Given the description of an element on the screen output the (x, y) to click on. 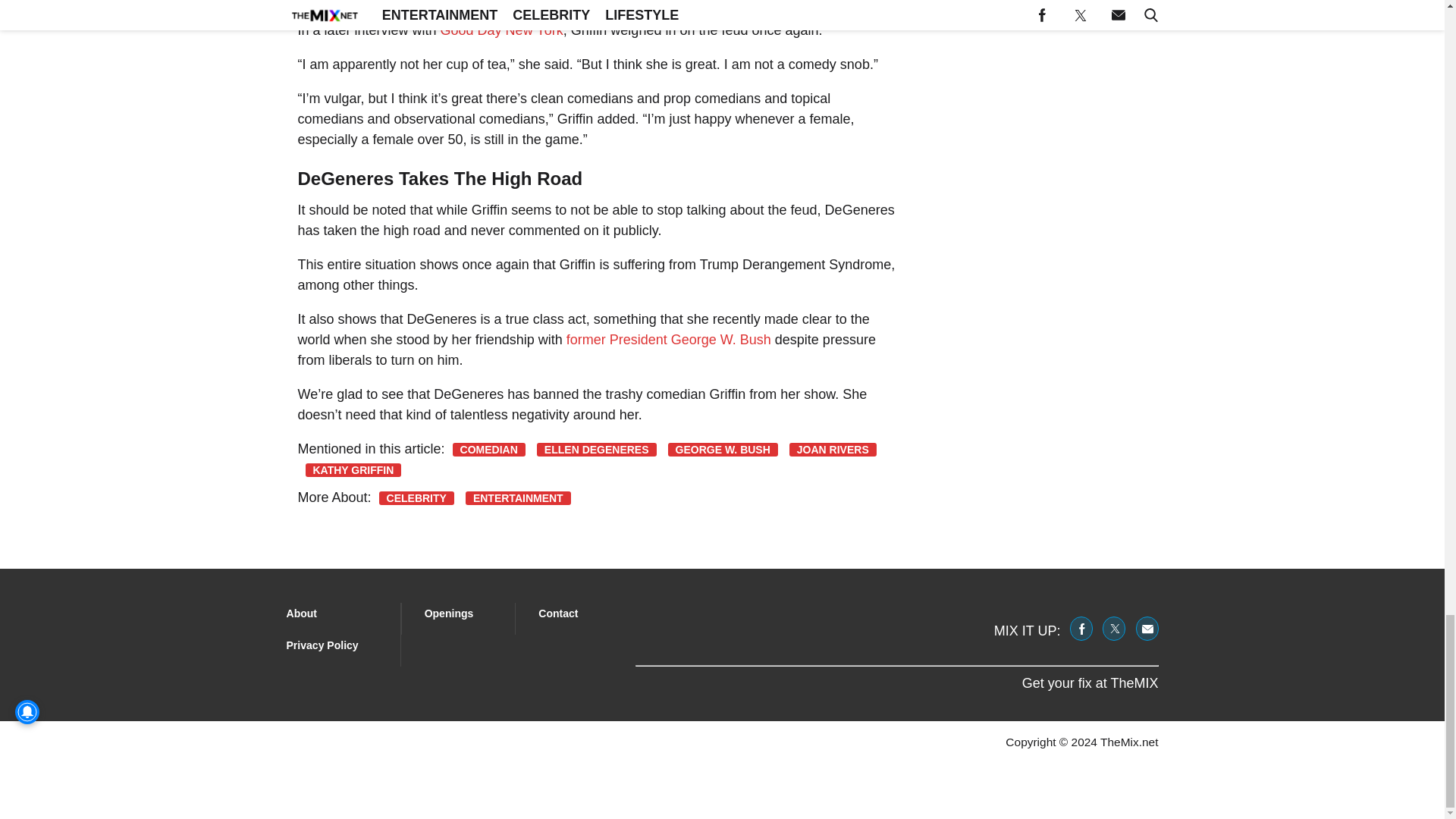
GEORGE W. BUSH (722, 449)
CELEBRITY (416, 498)
Good Day New York (502, 29)
JOAN RIVERS (832, 449)
KATHY GRIFFIN (352, 469)
ELLEN DEGENERES (596, 449)
COMEDIAN (488, 449)
former President George W. Bush (668, 339)
ENTERTAINMENT (517, 498)
